Given the description of an element on the screen output the (x, y) to click on. 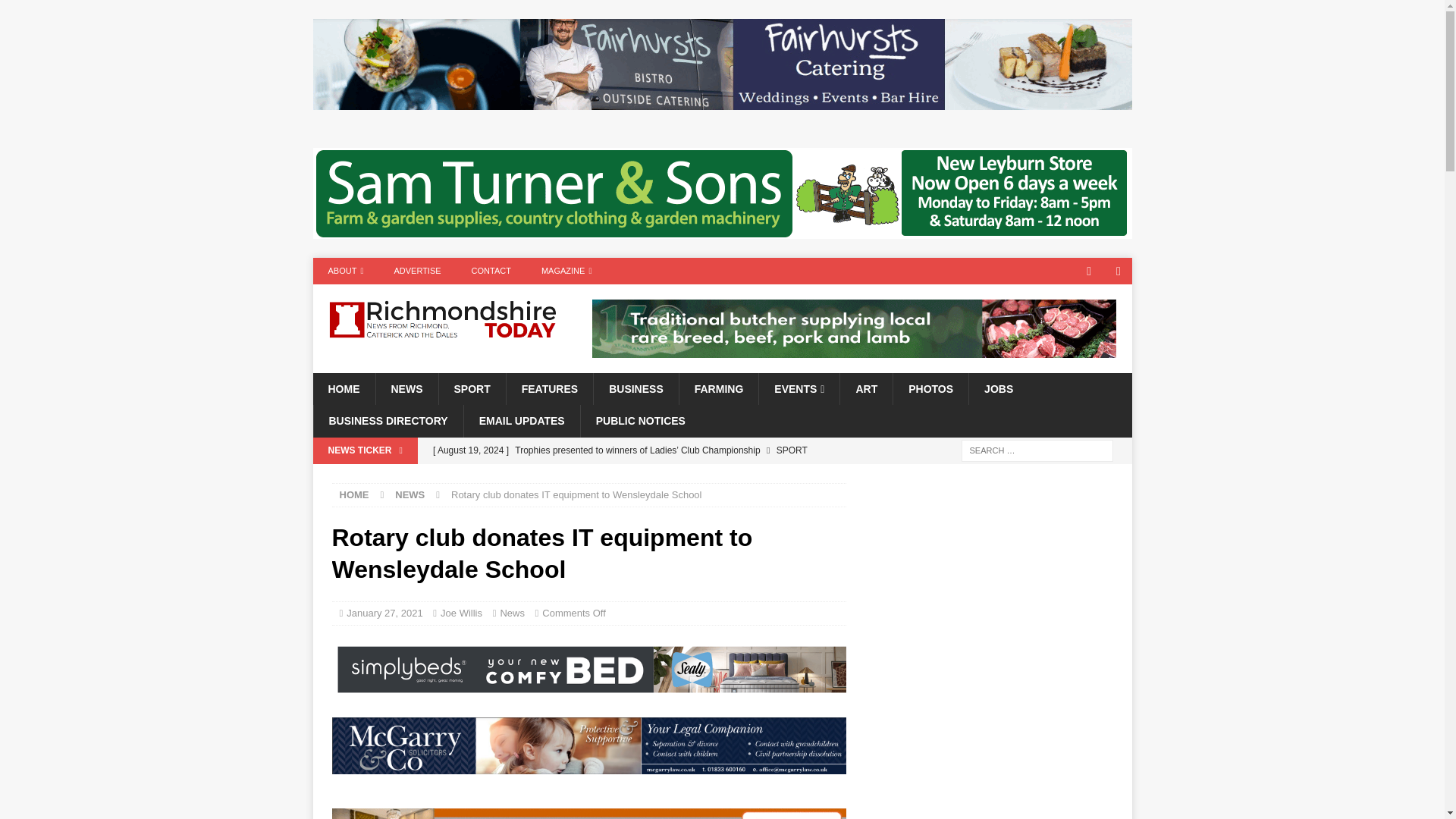
CONTACT (491, 270)
BUSINESS DIRECTORY (388, 420)
ART (866, 388)
JOBS (997, 388)
PUBLIC NOTICES (639, 420)
PHOTOS (930, 388)
MAGAZINE (566, 270)
ADVERTISE (416, 270)
EMAIL UPDATES (521, 420)
HOME (343, 388)
